Given the description of an element on the screen output the (x, y) to click on. 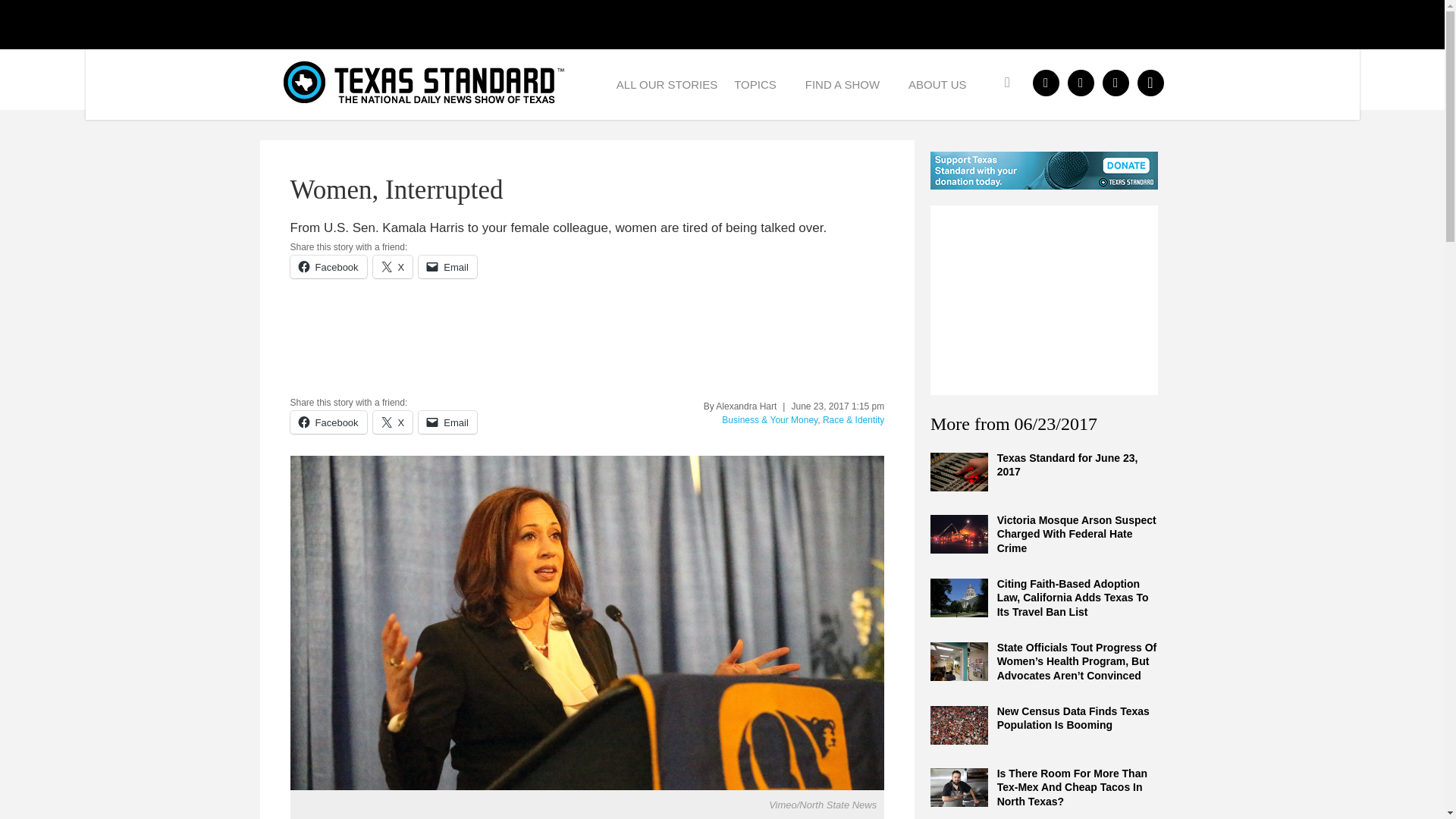
TOPICS (761, 82)
Click to share on Facebook (327, 422)
Click to email a link to a friend (448, 422)
Click to share on Facebook (327, 266)
ALL OUR STORIES (666, 82)
Click to email a link to a friend (448, 266)
Click to share on X (392, 422)
3rd party ad content (1043, 299)
Click to share on X (392, 266)
